Given the description of an element on the screen output the (x, y) to click on. 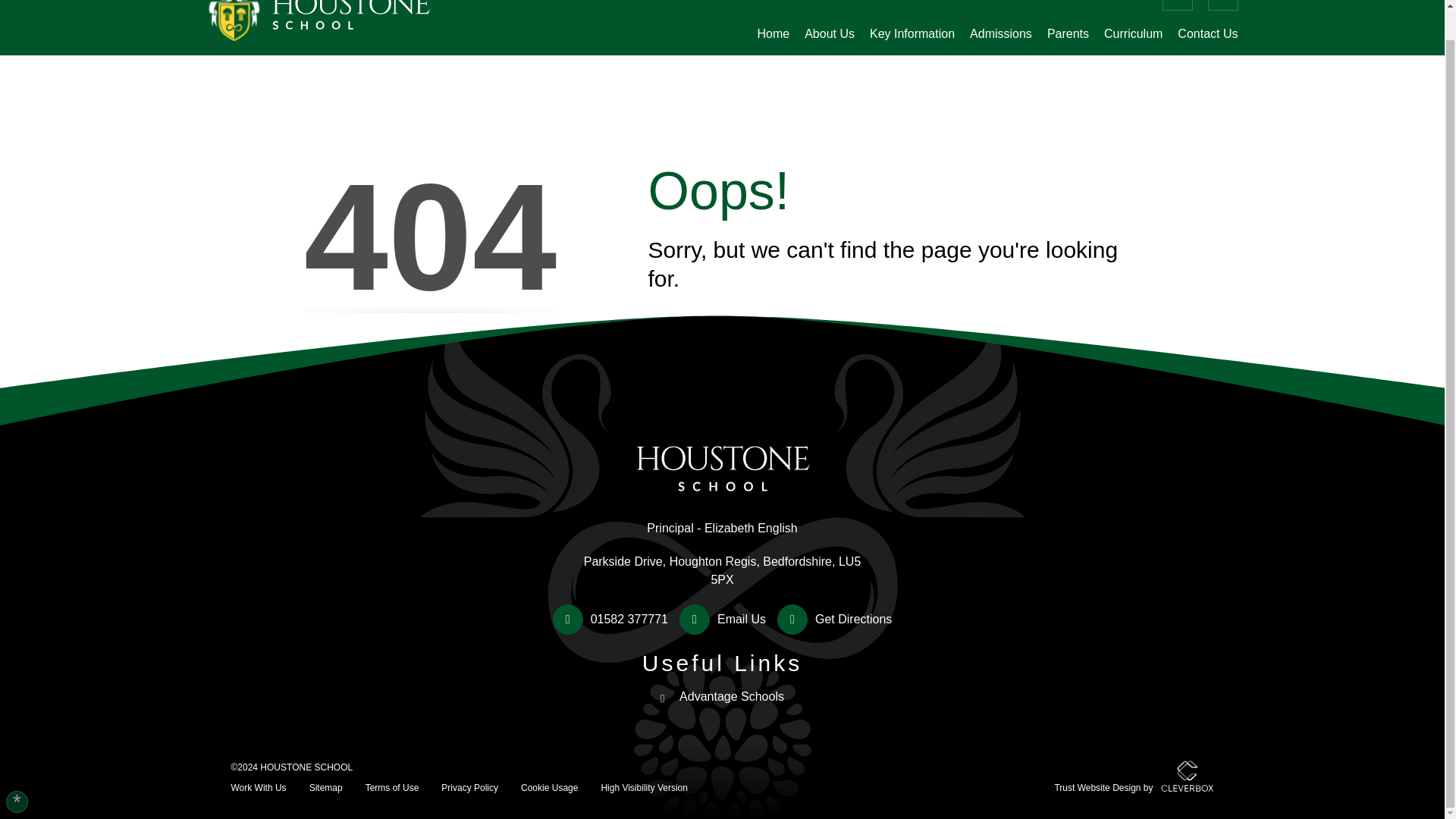
X (1176, 5)
Curriculum (1132, 34)
Parents (1067, 34)
About Us (829, 34)
 Houstone School (319, 20)
 Houstone School (721, 434)
Home (773, 34)
Key Information (912, 34)
Call us on 01582 377771 (610, 619)
Google Translate (1119, 2)
